Given the description of an element on the screen output the (x, y) to click on. 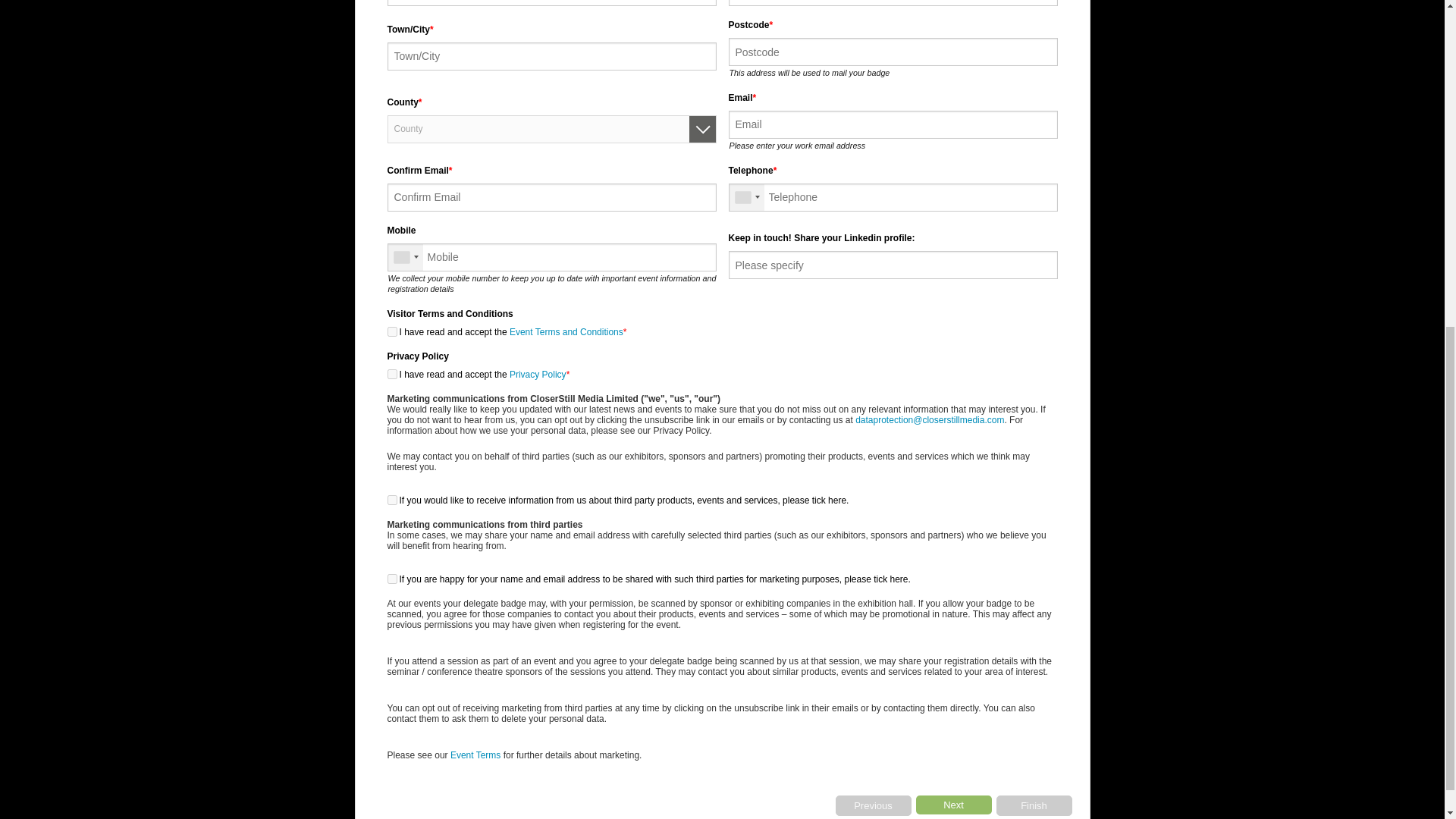
Privacy Policy (537, 374)
Previous (873, 805)
Event Terms (474, 755)
true (391, 331)
true (391, 500)
Finish (1033, 805)
true (391, 578)
Event Terms and Conditions (566, 331)
true (391, 374)
Next (953, 804)
